Given the description of an element on the screen output the (x, y) to click on. 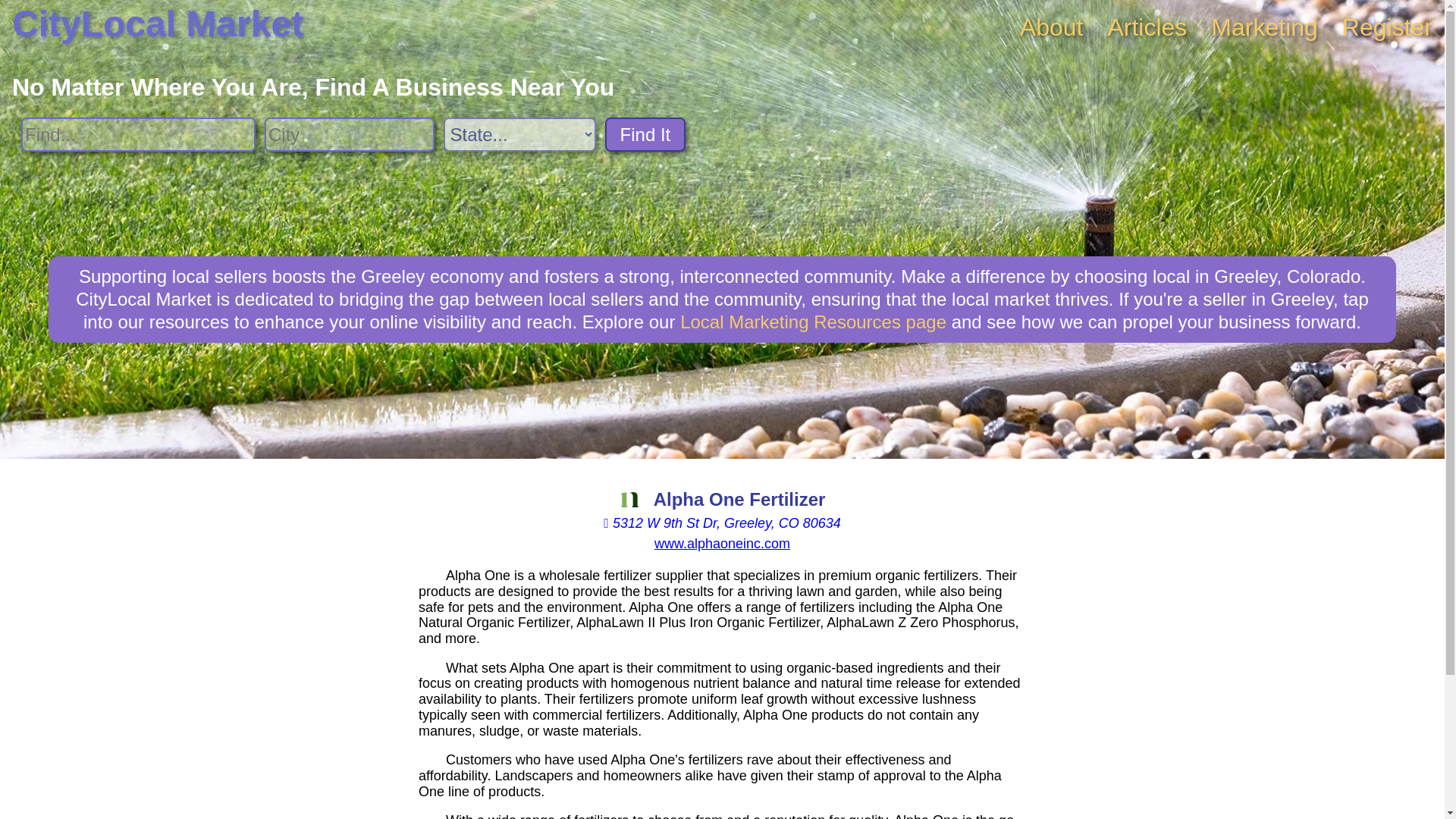
Articles (1146, 27)
Local Marketing Resources page (812, 322)
www.alphaoneinc.com (721, 543)
View on Google Maps (721, 523)
Register (1387, 27)
Find It (645, 134)
Marketing (1264, 27)
About CityLocal Market (1051, 27)
Local Marketing Resources (812, 322)
Business Marketing Opportunites (1264, 27)
About (1051, 27)
CityLocal Market (156, 24)
Visit www.alphaoneinc.com (721, 543)
Register My Business (1387, 27)
Articles (1146, 27)
